Given the description of an element on the screen output the (x, y) to click on. 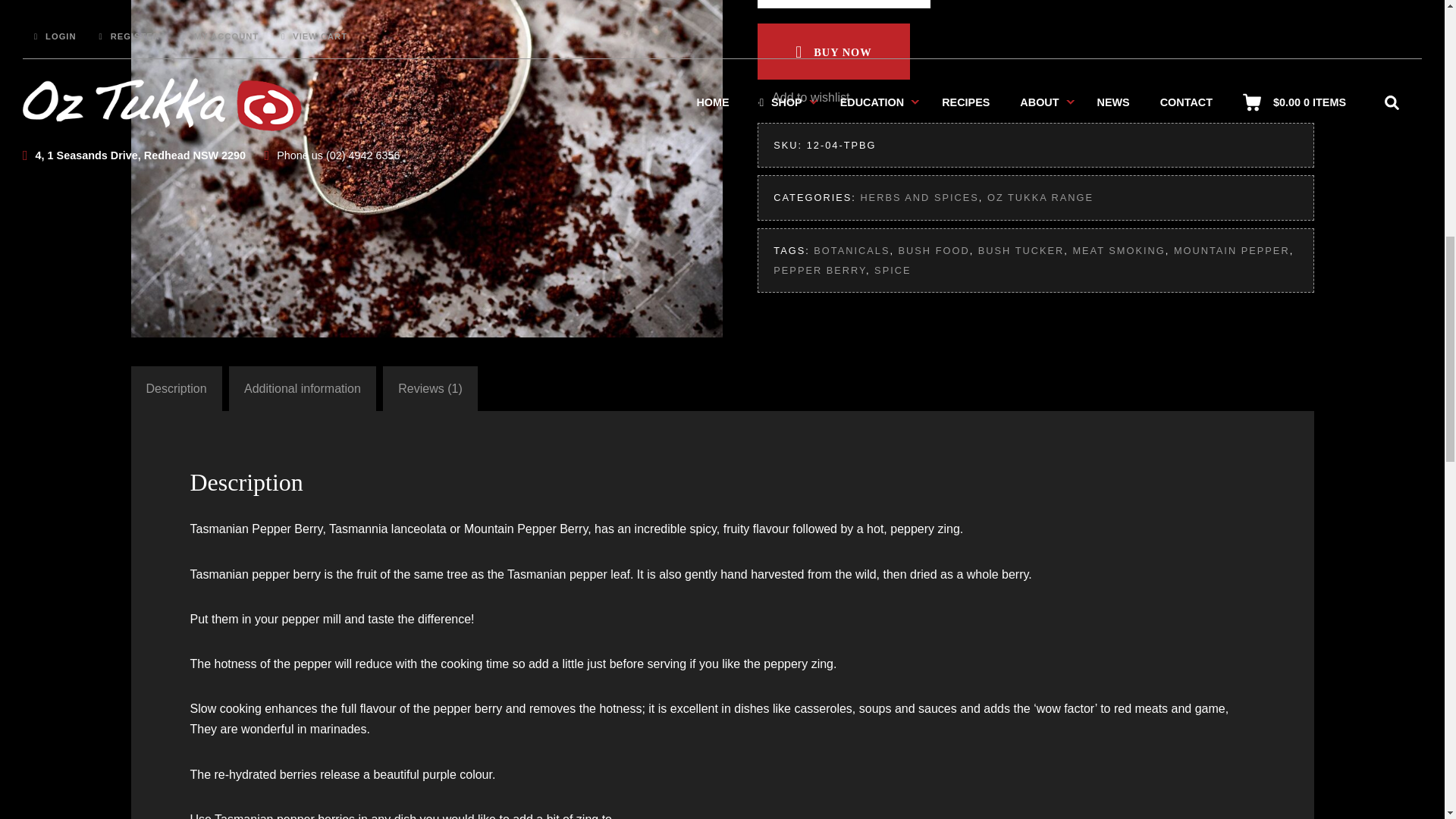
1 (843, 4)
